Given the description of an element on the screen output the (x, y) to click on. 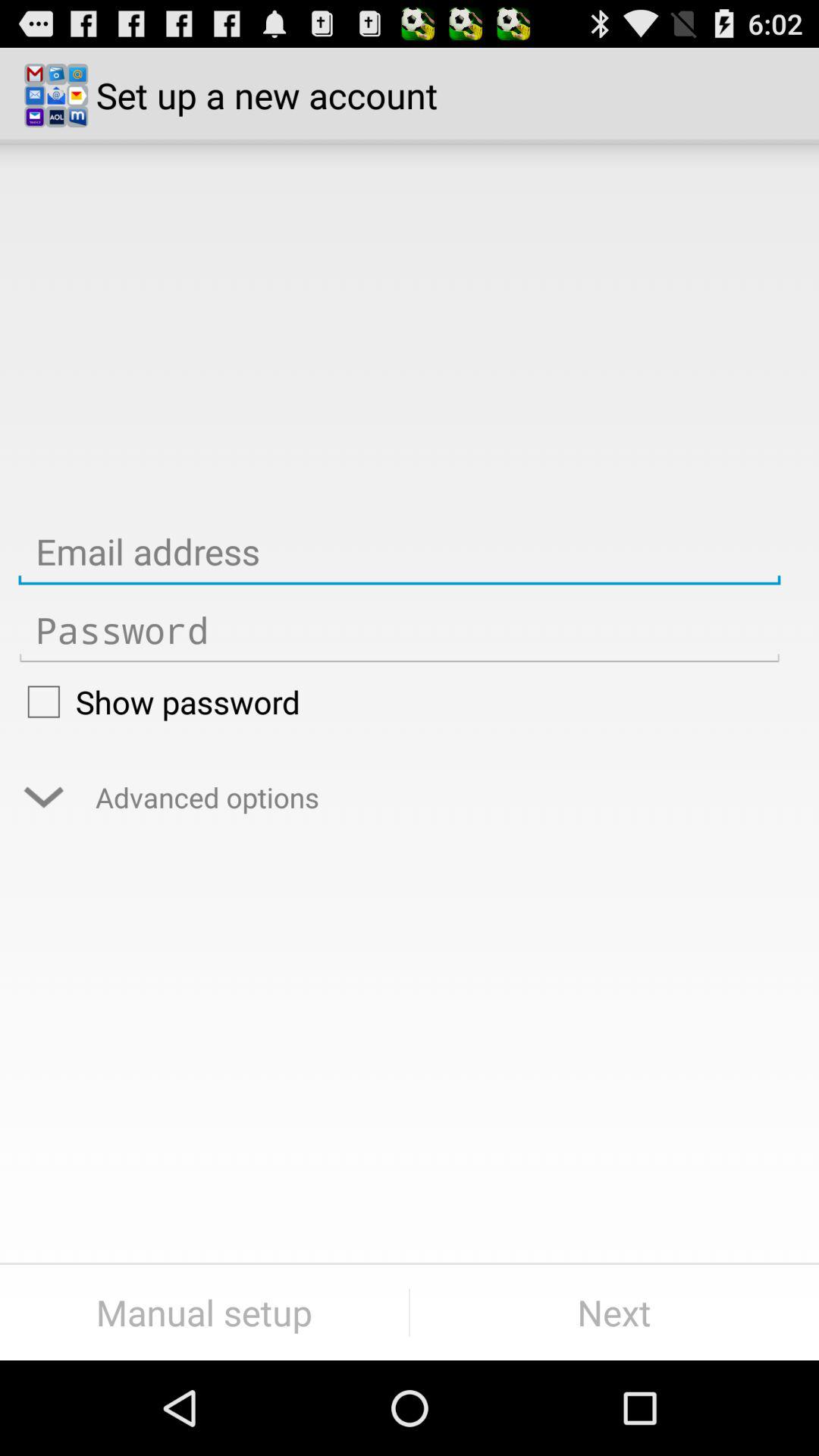
turn on next item (614, 1312)
